Given the description of an element on the screen output the (x, y) to click on. 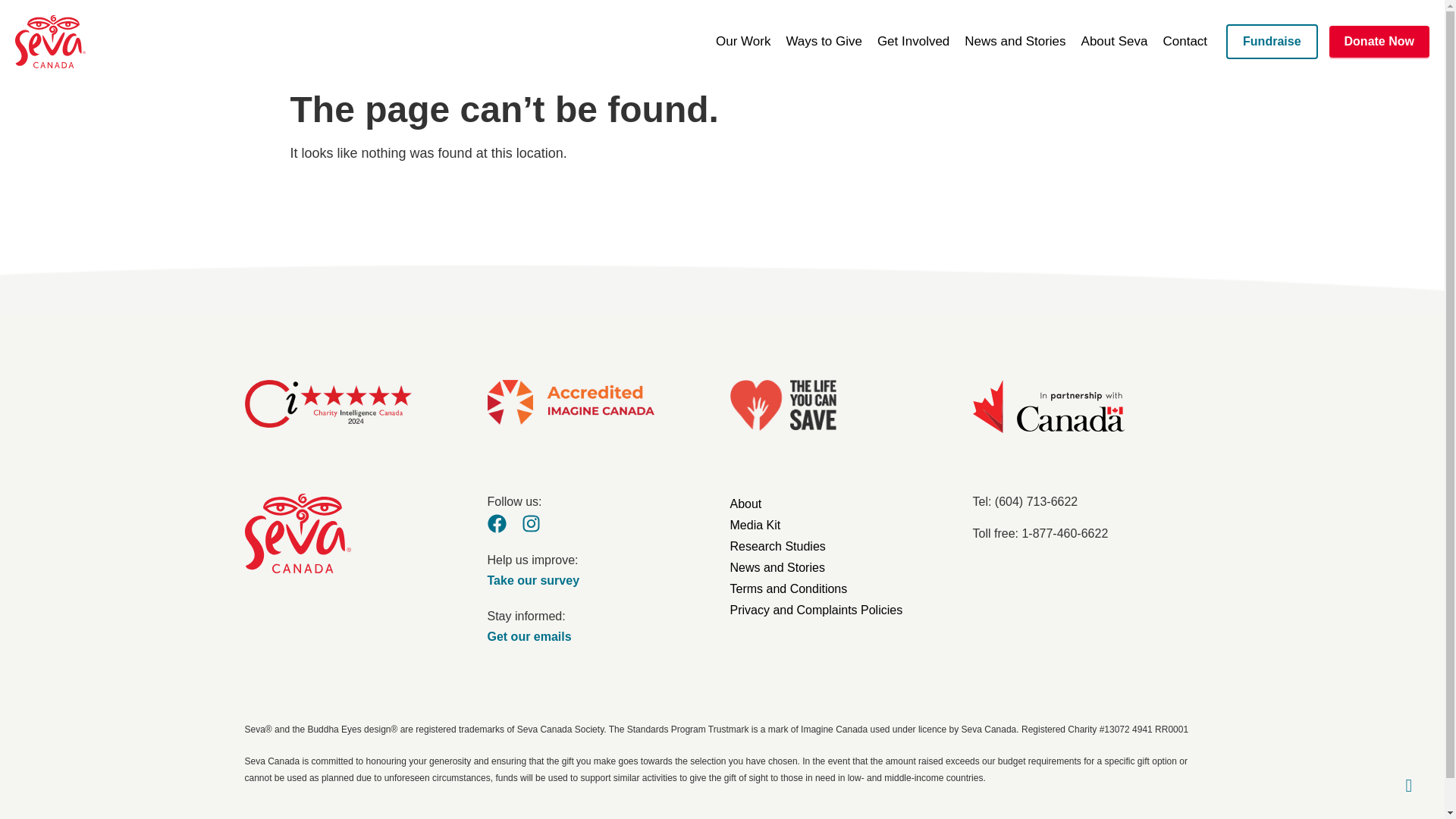
News and Stories (1014, 41)
Ways to Give (823, 41)
About Seva (1115, 41)
Our Work (742, 41)
Contact (1184, 41)
Get Involved (912, 41)
